Given the description of an element on the screen output the (x, y) to click on. 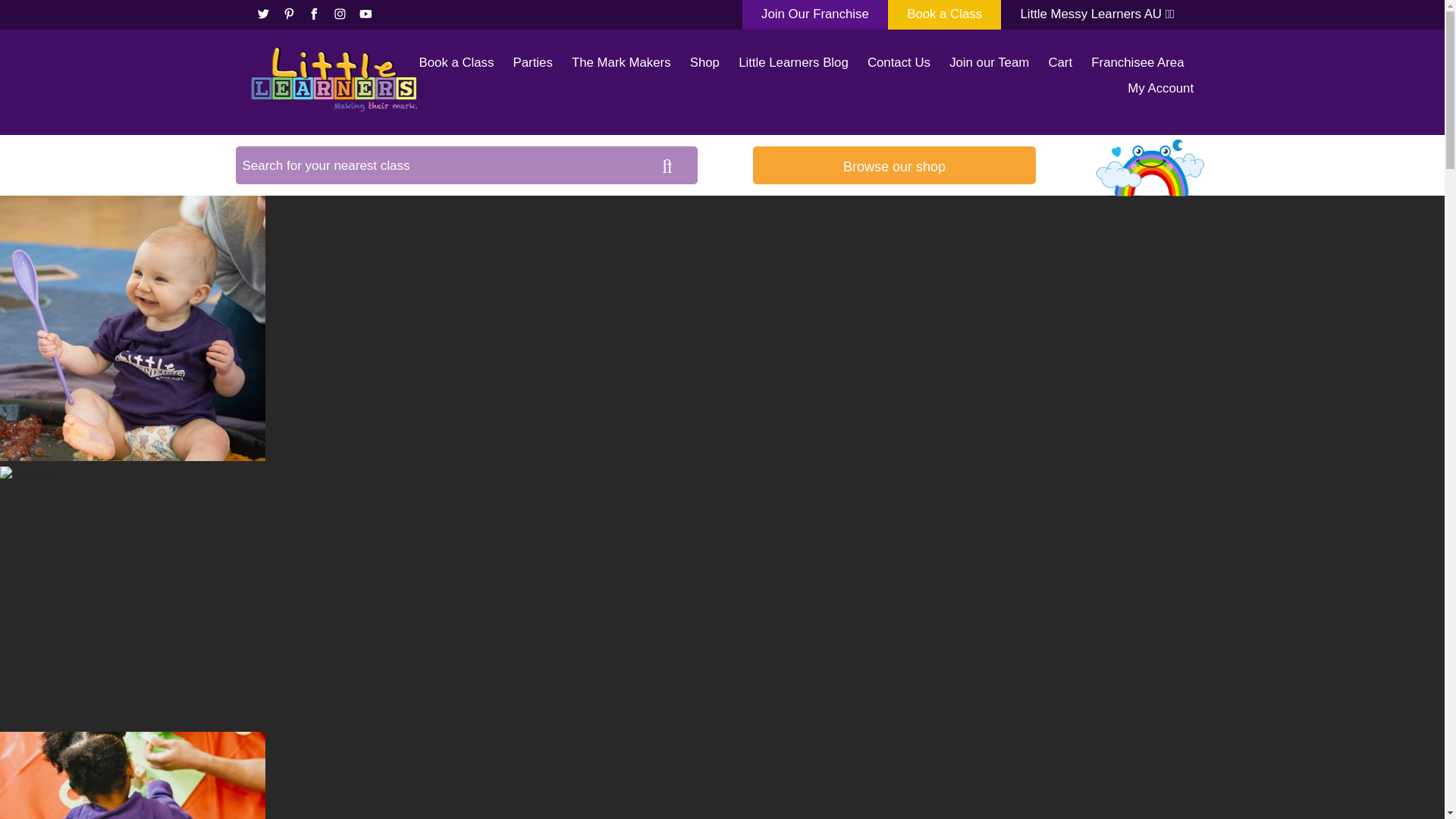
Join our Team (989, 63)
Parties (533, 63)
Join Our Franchise (815, 14)
The Mark Makers (621, 63)
Franchisee Area (1136, 63)
My Account (1159, 88)
Book a Class (457, 63)
Little Learners Blog (793, 63)
Browse our shop (893, 165)
Shop (704, 63)
